Given the description of an element on the screen output the (x, y) to click on. 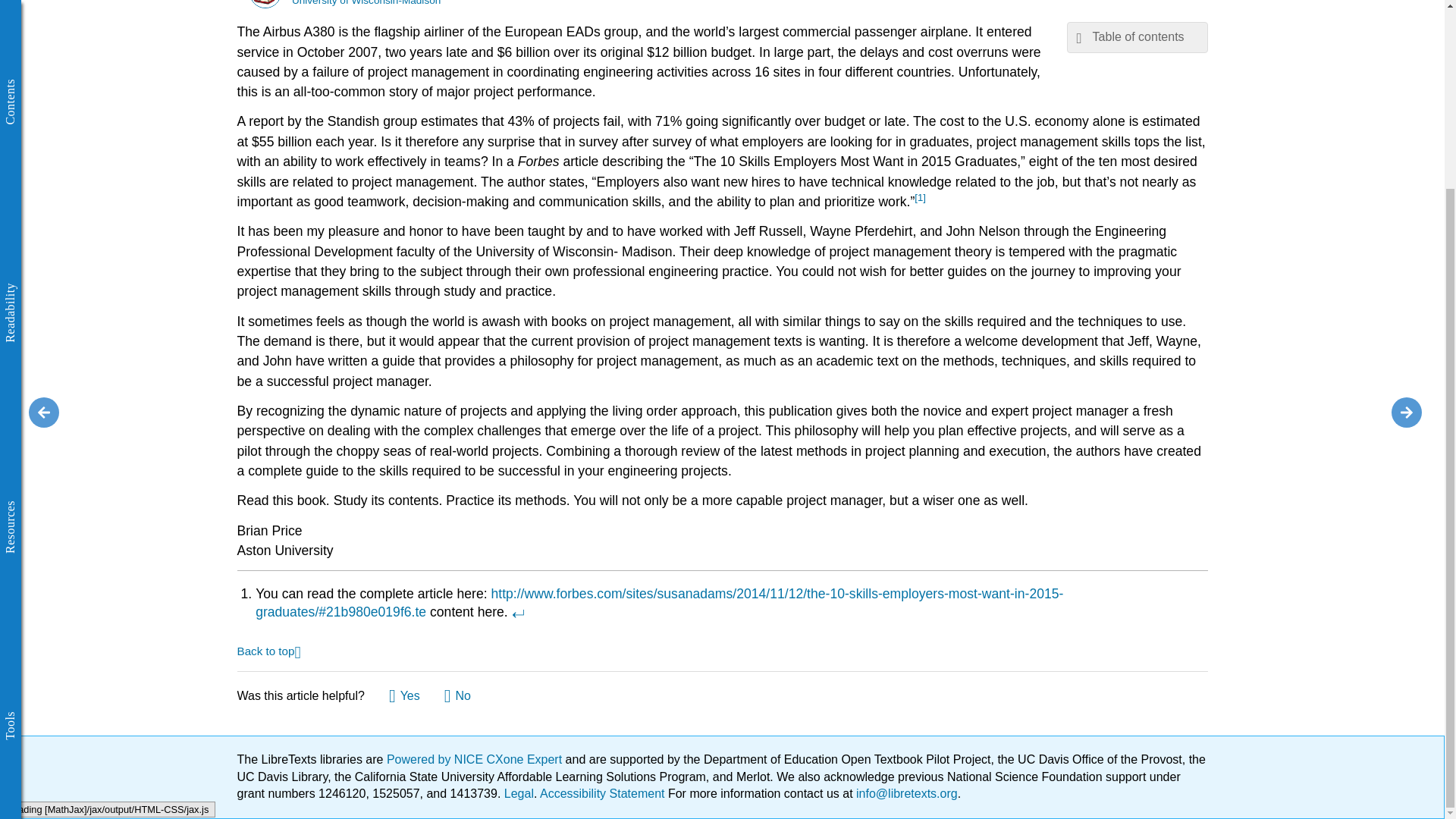
Jump back to top of this article (267, 650)
Jeffrey Russell, Wayne Pferdehirt, and John Nelson (265, 3)
